Given the description of an element on the screen output the (x, y) to click on. 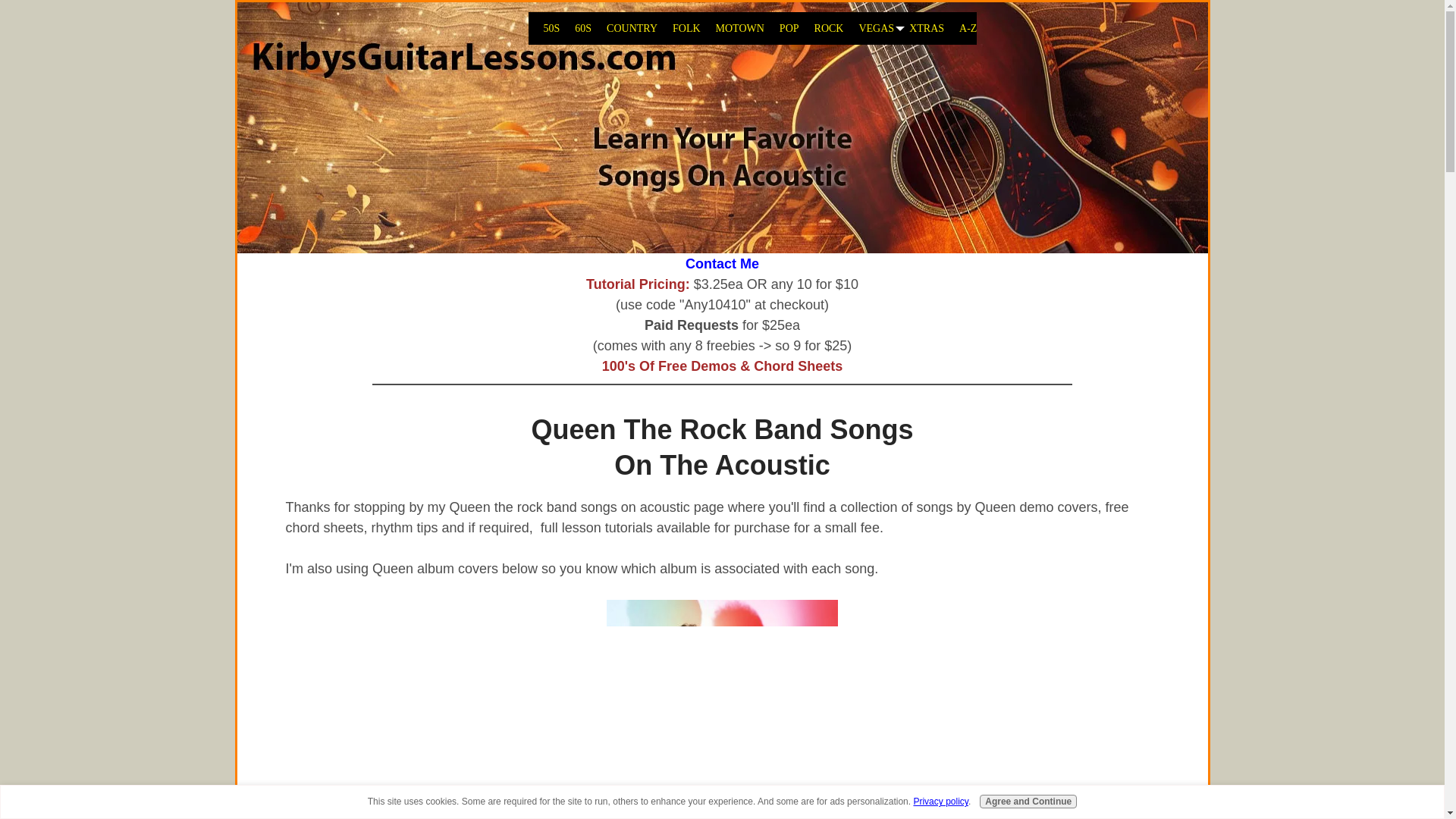
Queen The Rock Band Songs (722, 692)
A-Z (959, 28)
FOLK (679, 28)
60S (575, 28)
POP (781, 28)
MOTOWN (732, 28)
Contact Me (721, 263)
COUNTRY (624, 28)
50S (543, 28)
ROCK (821, 28)
